Given the description of an element on the screen output the (x, y) to click on. 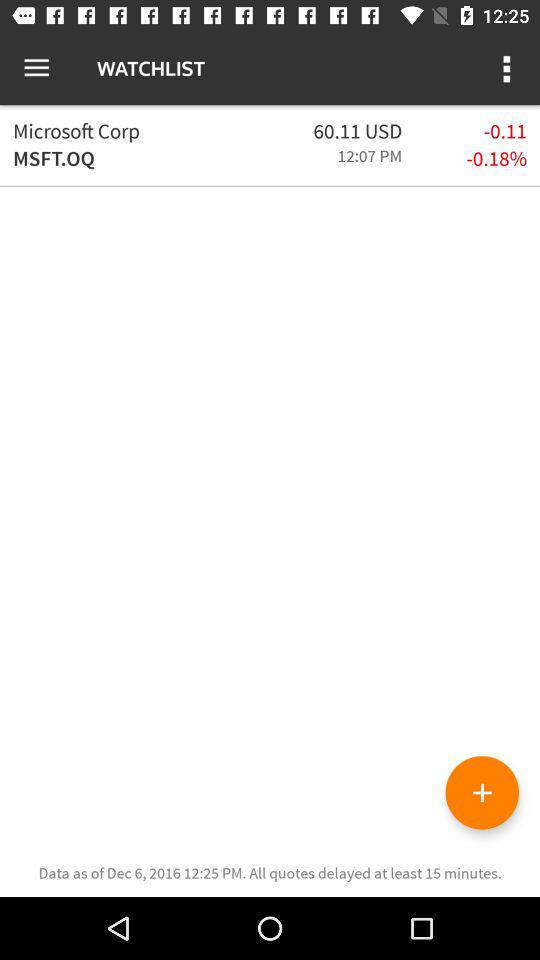
tap the item at the bottom right corner (482, 792)
